Given the description of an element on the screen output the (x, y) to click on. 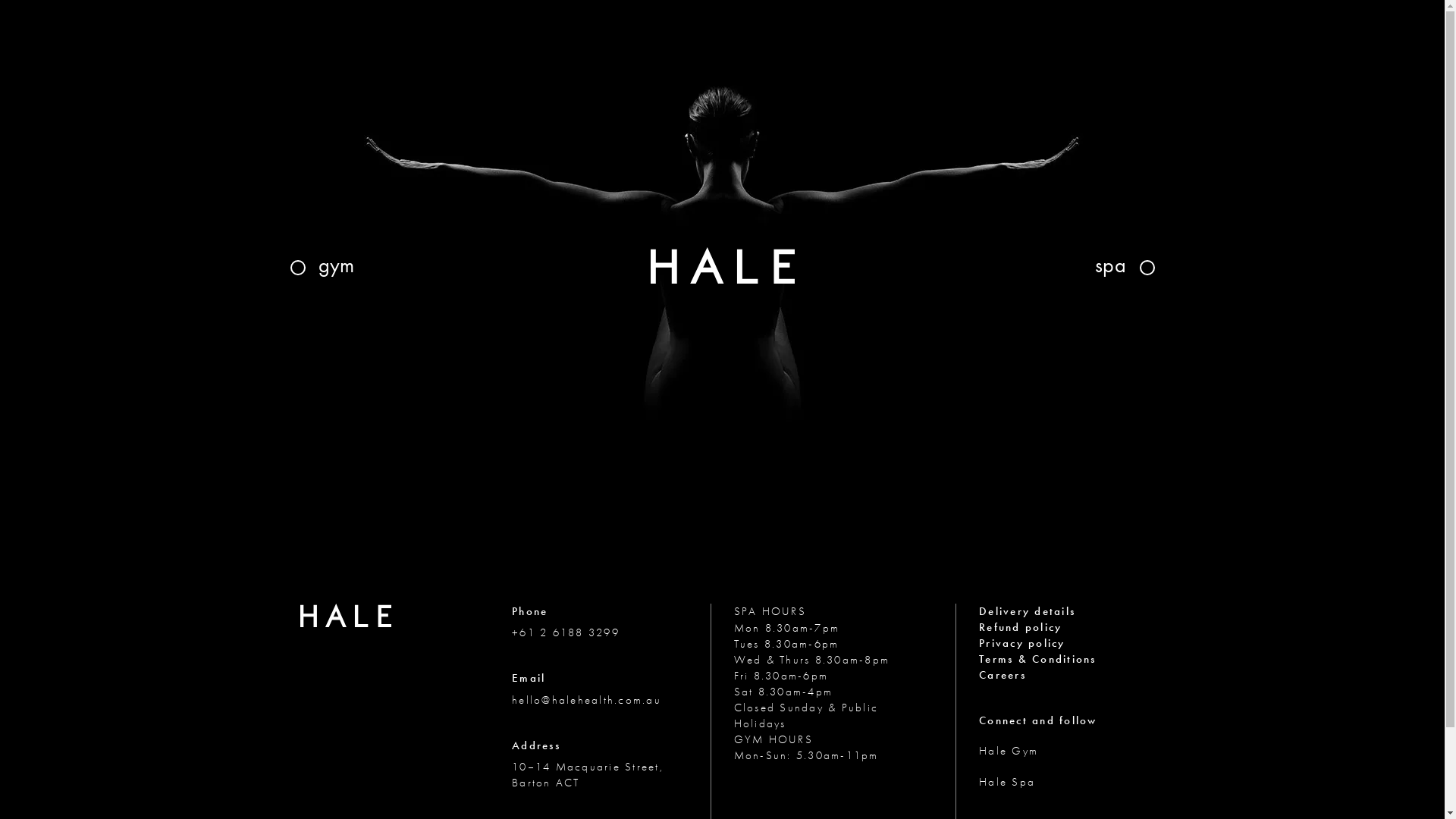
Careers Element type: text (1002, 674)
Refund policy Element type: text (1020, 626)
hello@halehealth.com.au Element type: text (586, 699)
Terms & Conditions Element type: text (1037, 658)
+61 2 6188 3299 Element type: text (565, 632)
Delivery details Element type: text (1027, 610)
gym Element type: text (321, 266)
Privacy policy Element type: text (1022, 642)
spa Element type: text (1124, 266)
